Given the description of an element on the screen output the (x, y) to click on. 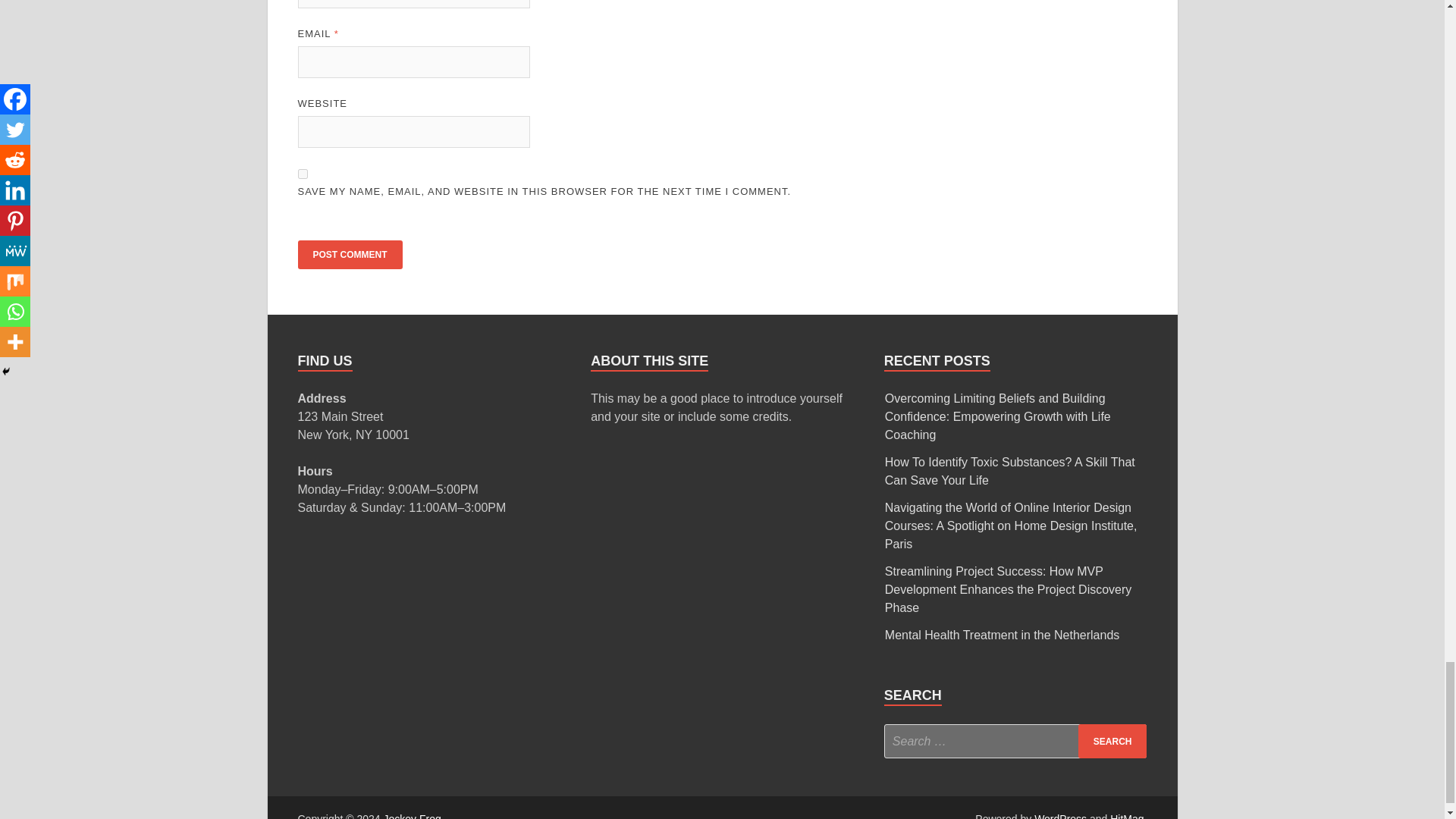
Post Comment (349, 254)
Search (1112, 740)
yes (302, 173)
Search (1112, 740)
